Given the description of an element on the screen output the (x, y) to click on. 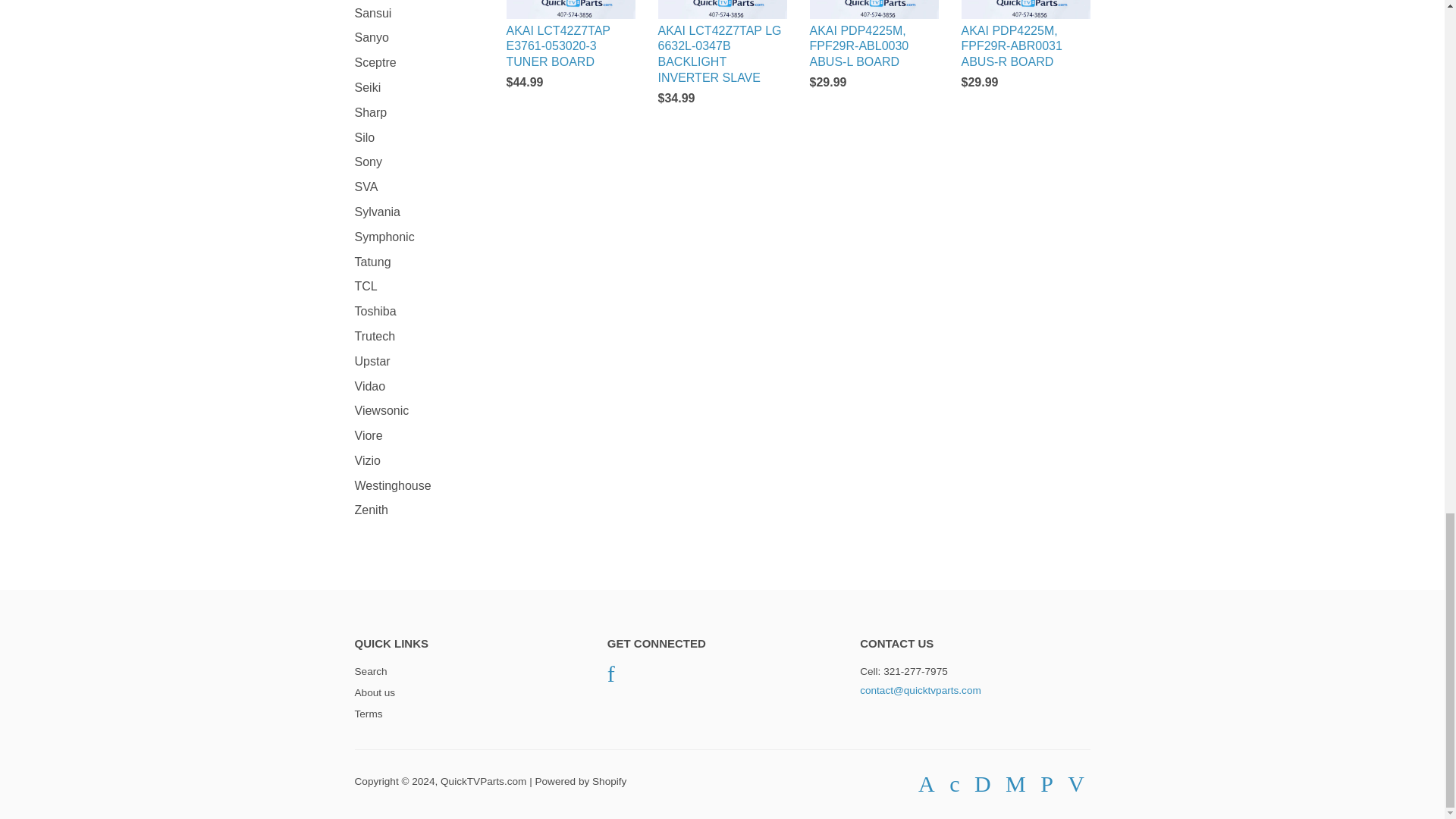
QuickTVParts.com on Facebook (610, 673)
